Given the description of an element on the screen output the (x, y) to click on. 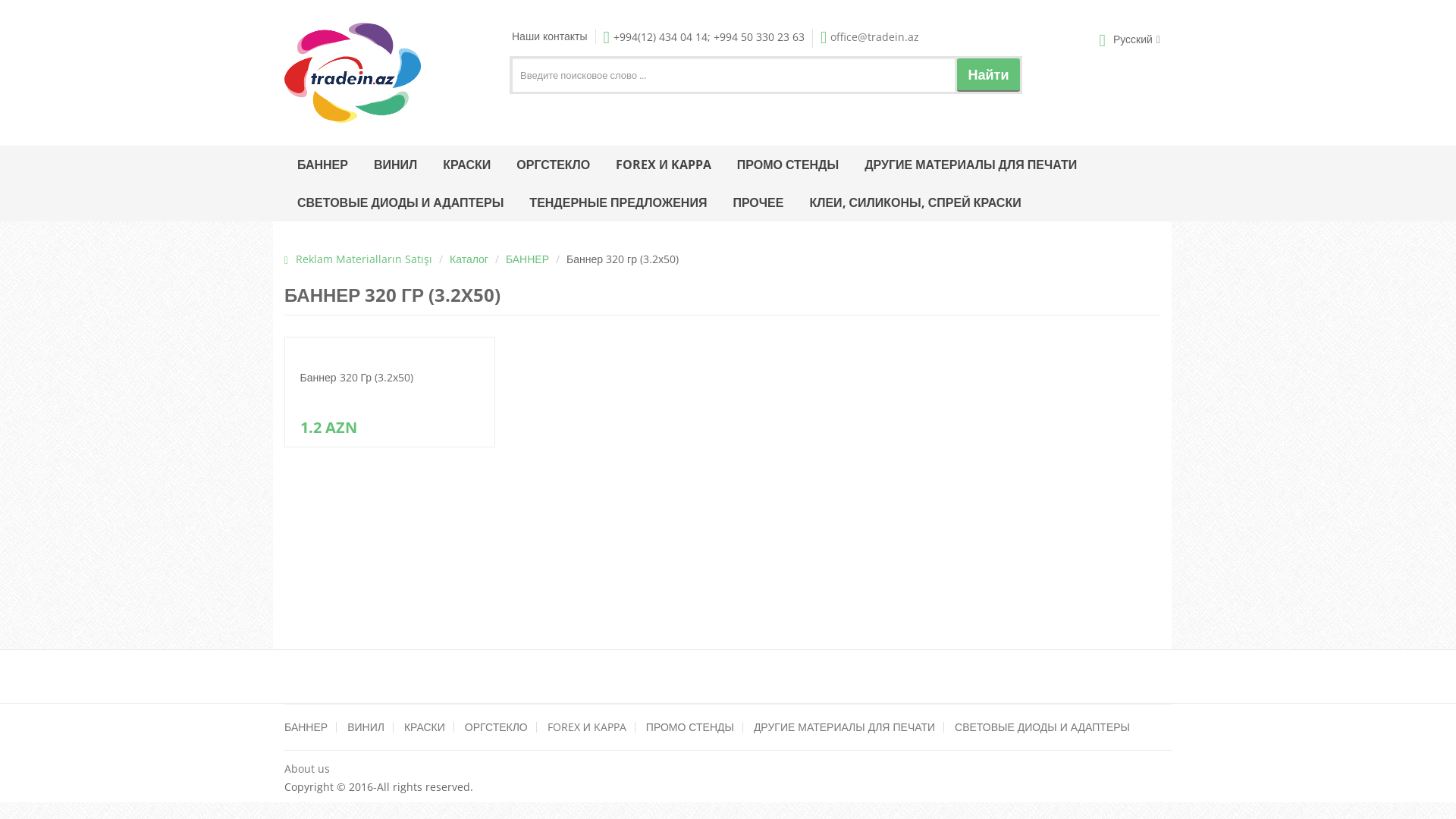
office@tradein.az Element type: text (869, 36)
About us Element type: text (306, 768)
